Given the description of an element on the screen output the (x, y) to click on. 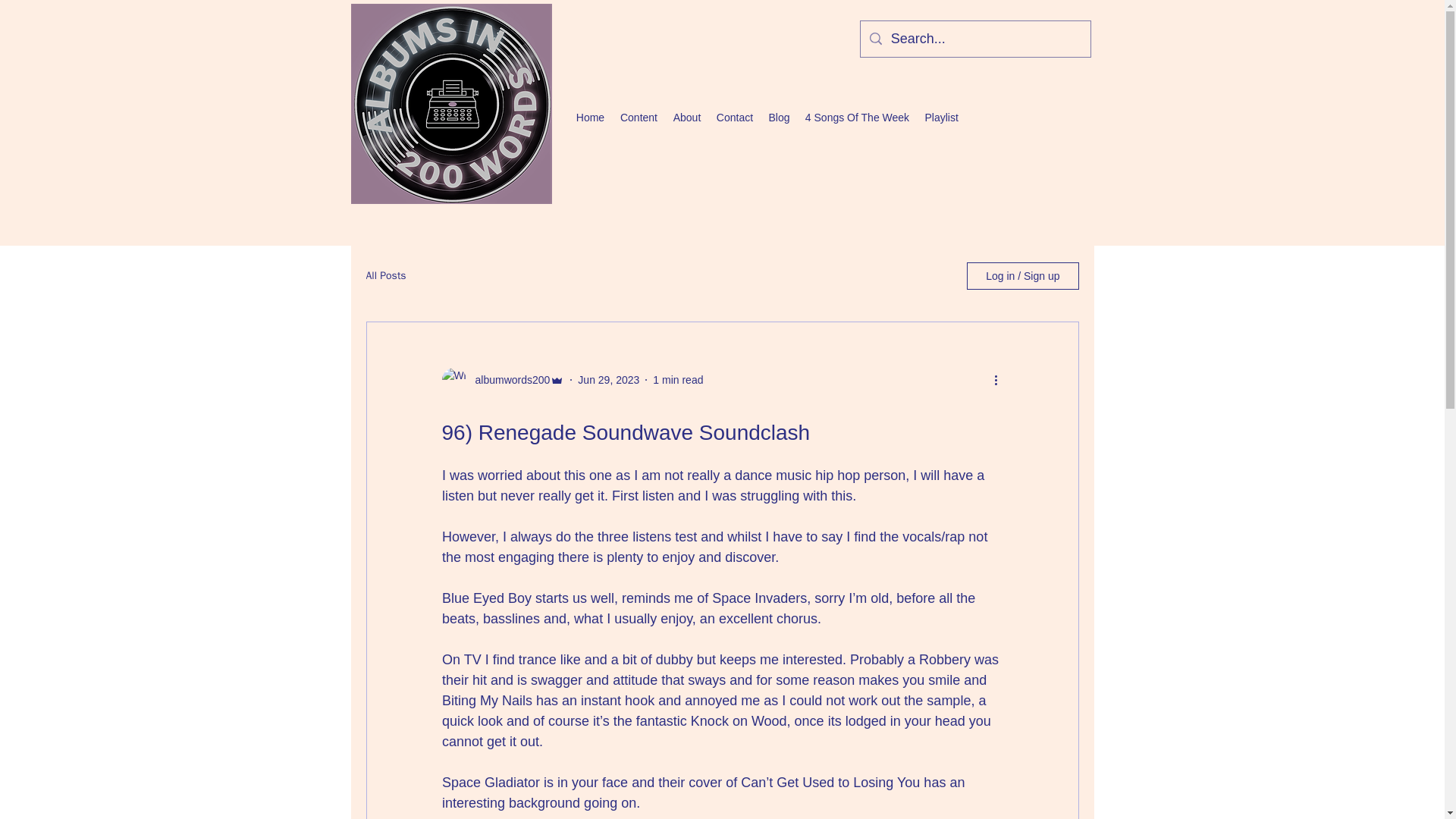
4 Songs Of The Week (856, 117)
All Posts (385, 275)
Home (589, 117)
1 min read (677, 378)
Blog (778, 117)
Jun 29, 2023 (608, 378)
Playlist (941, 117)
About (686, 117)
albumwords200 (507, 379)
Contact (733, 117)
